Given the description of an element on the screen output the (x, y) to click on. 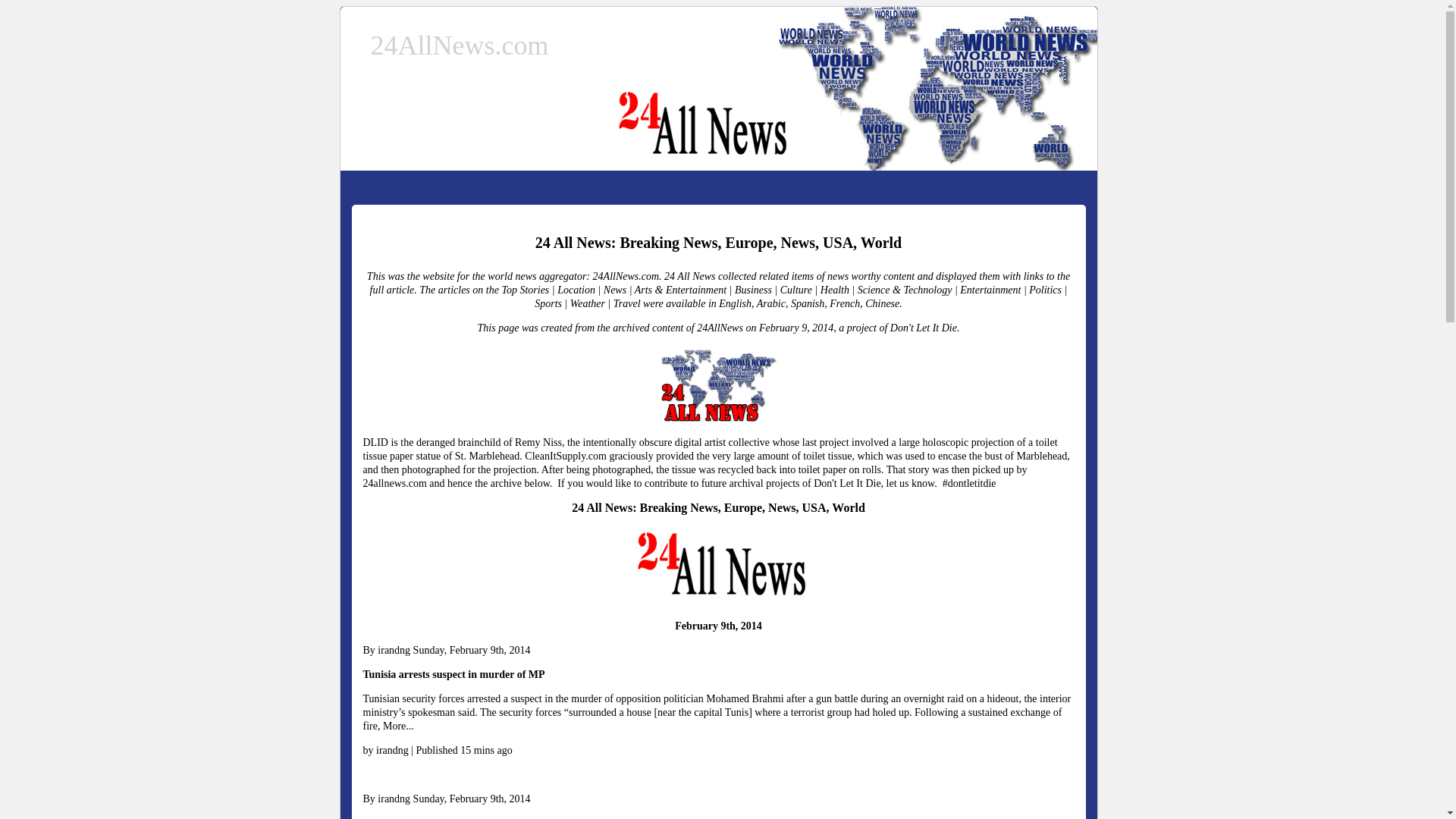
24AllNews.com Element type: text (459, 45)
toilet tissue paper Element type: text (709, 448)
